Given the description of an element on the screen output the (x, y) to click on. 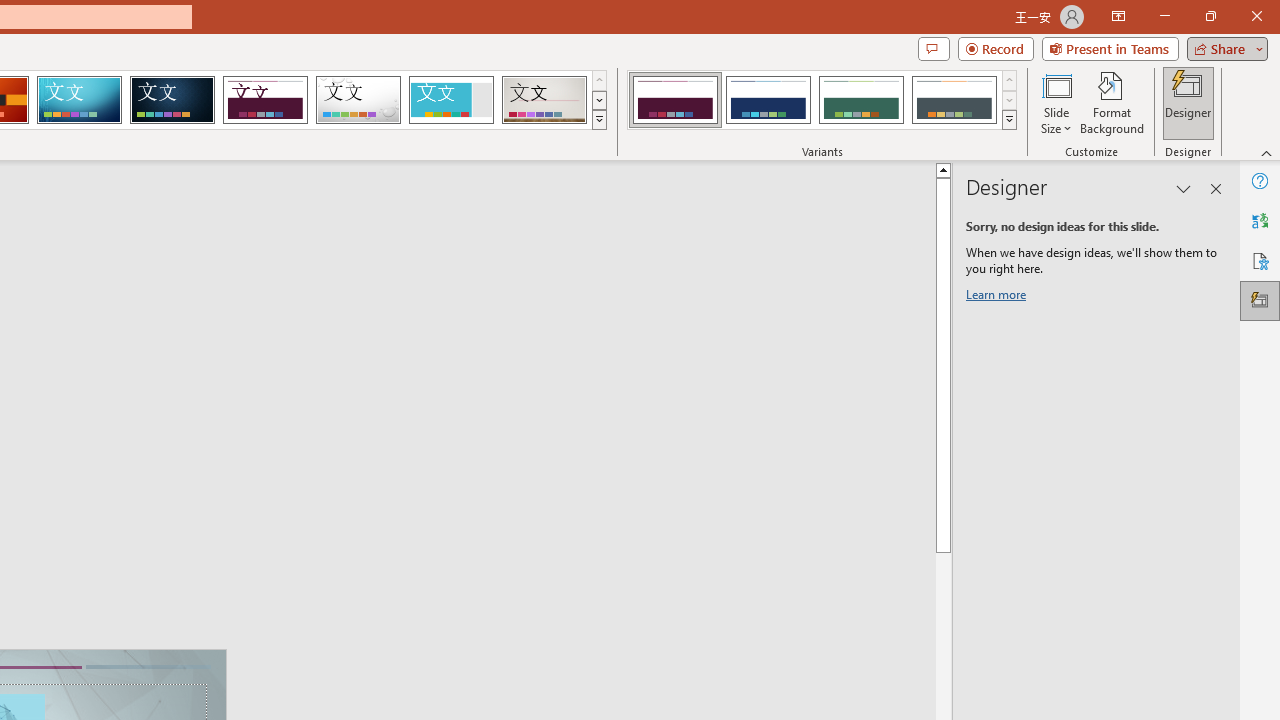
Frame (450, 100)
Dividend Variant 3 (861, 100)
AutomationID: ThemeVariantsGallery (822, 99)
Circuit (79, 100)
Damask (171, 100)
